Given the description of an element on the screen output the (x, y) to click on. 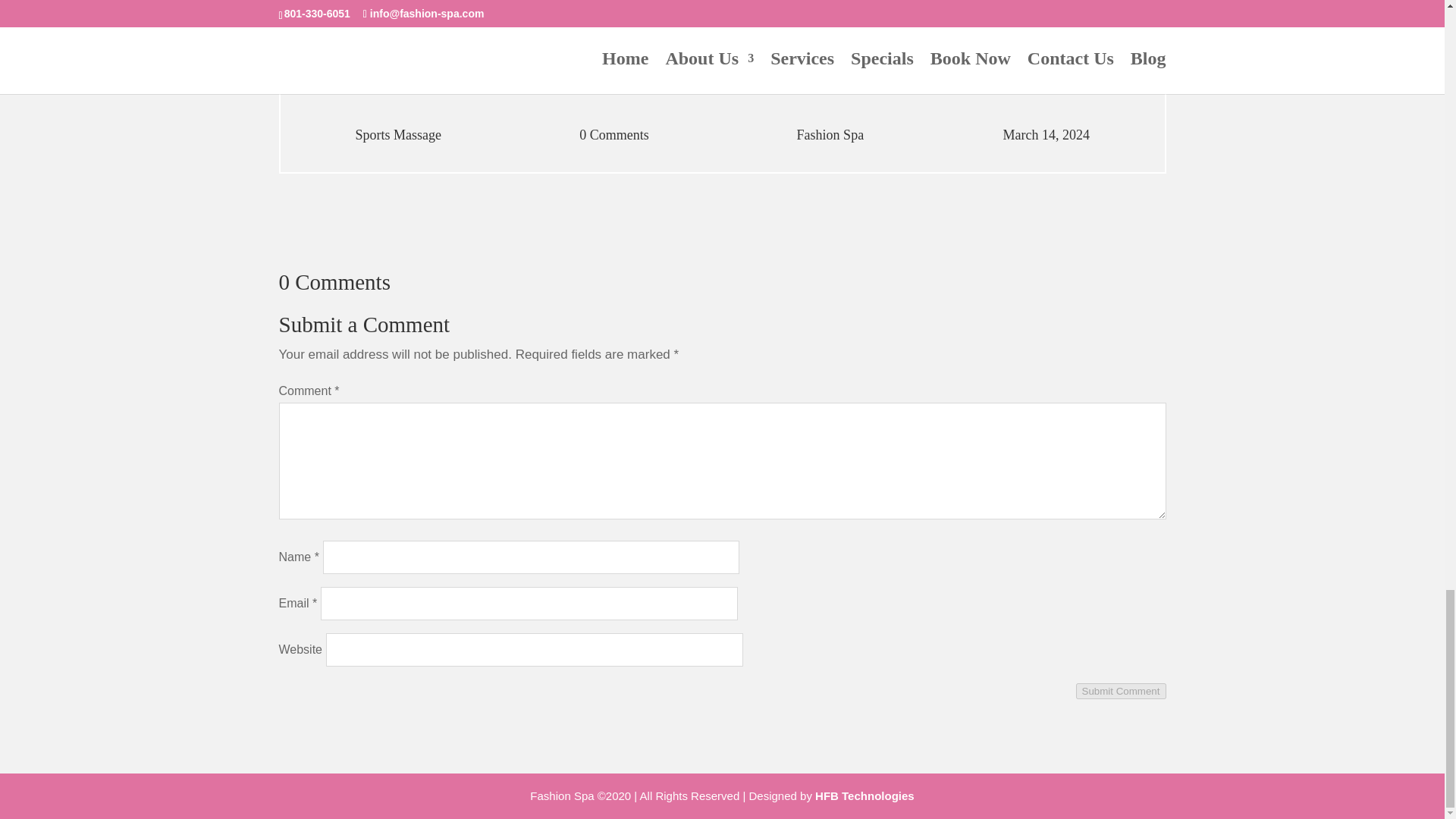
Submit Comment (1120, 691)
0 Comments (614, 134)
HFB Technologies (864, 795)
Sports Massage (398, 134)
